Given the description of an element on the screen output the (x, y) to click on. 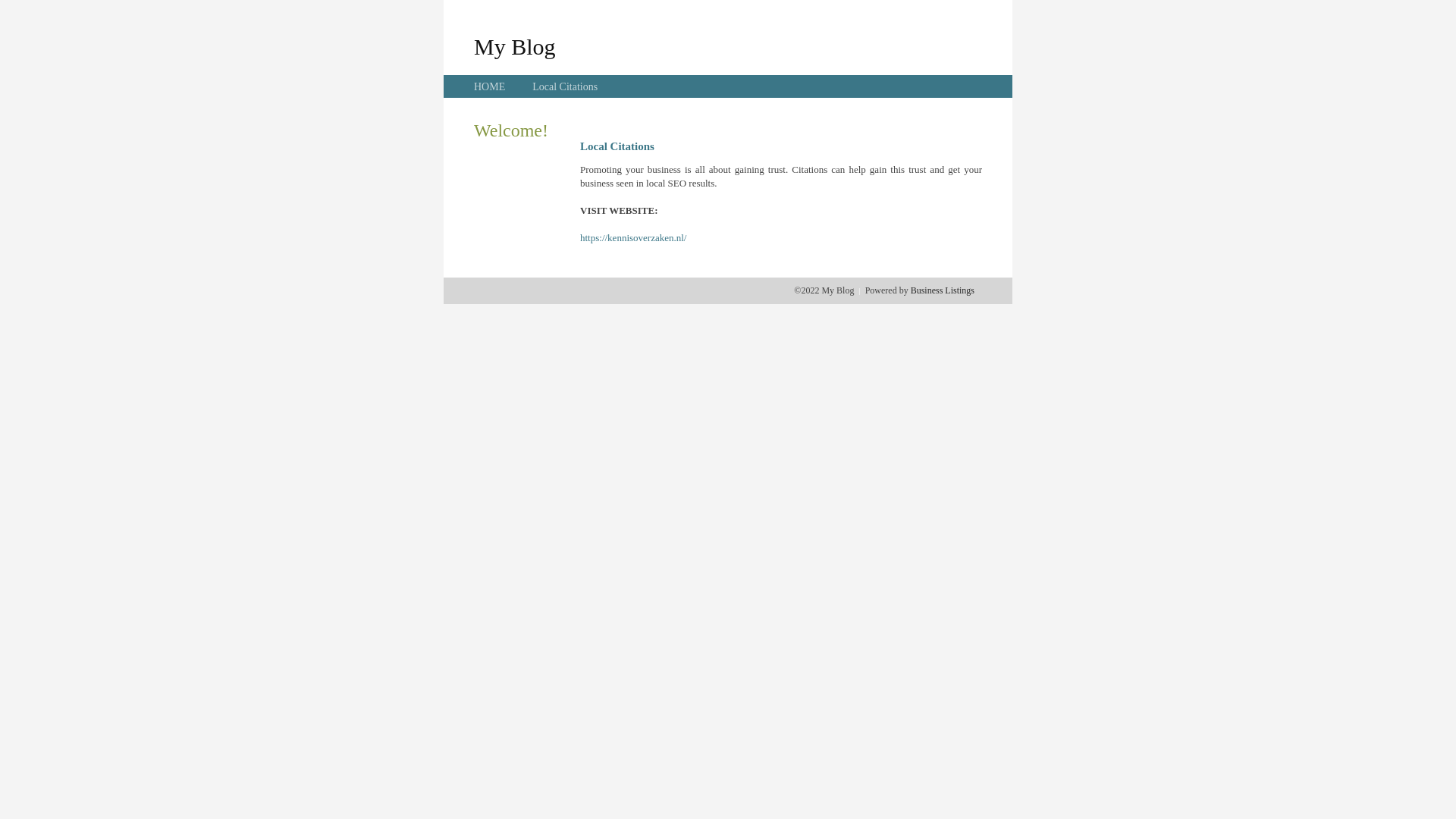
HOME Element type: text (489, 86)
My Blog Element type: text (514, 46)
Local Citations Element type: text (564, 86)
https://kennisoverzaken.nl/ Element type: text (633, 237)
Business Listings Element type: text (942, 290)
